Given the description of an element on the screen output the (x, y) to click on. 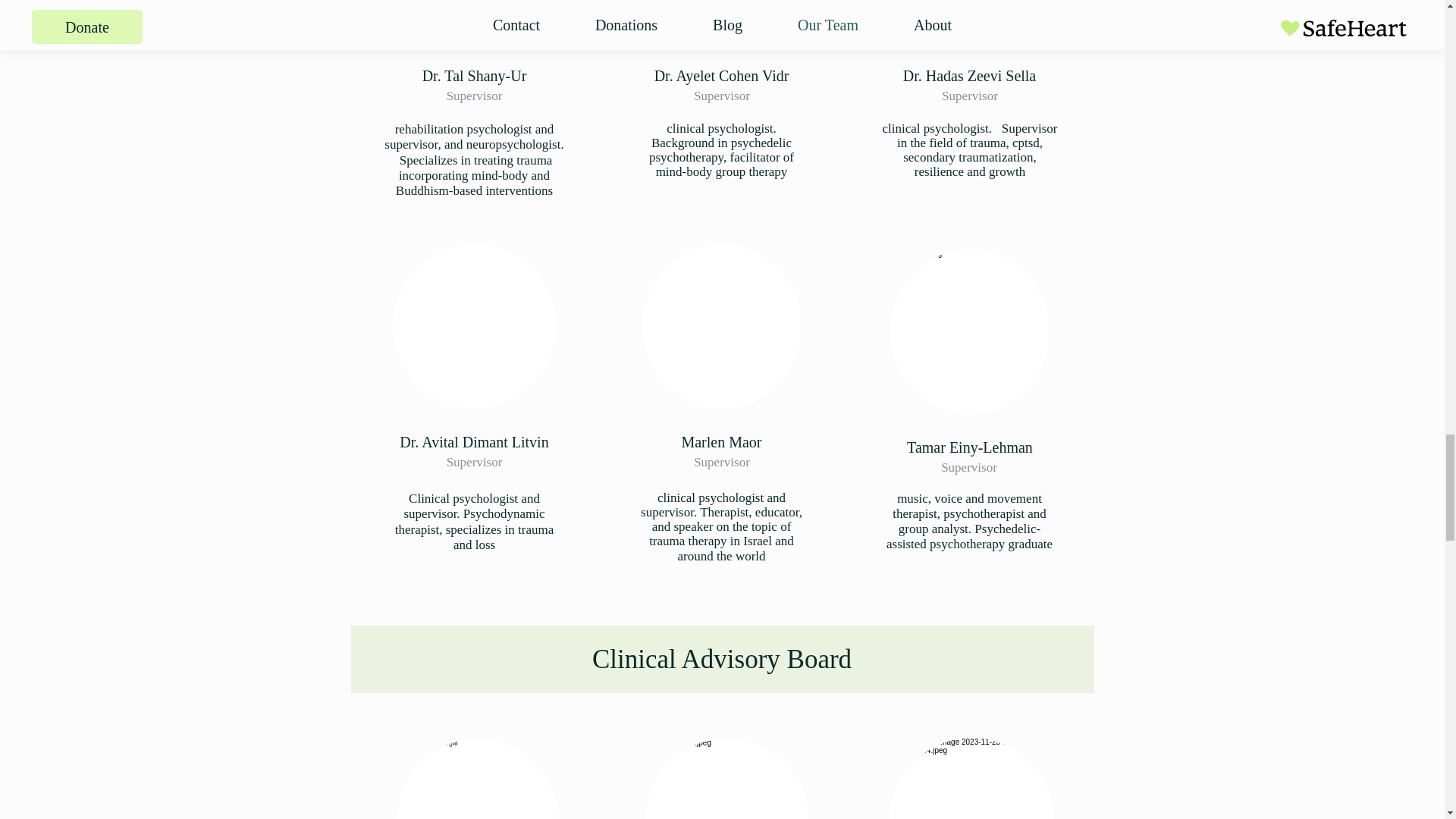
guy3.jpg (969, 21)
guy3.jpg (721, 21)
guy4.jpg (474, 21)
